Given the description of an element on the screen output the (x, y) to click on. 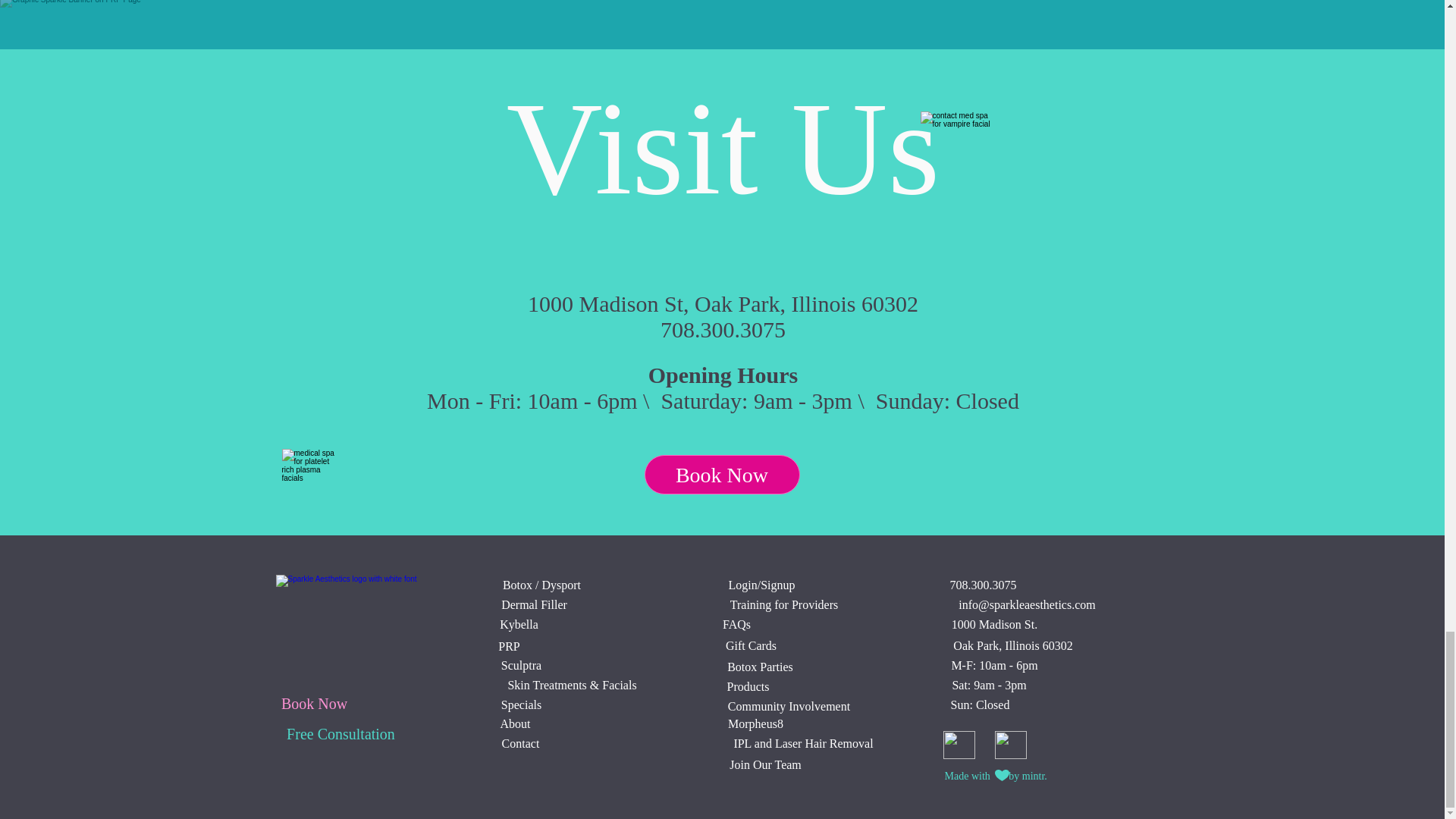
Asset a.png (955, 159)
Sculptra (521, 665)
Book Now (722, 474)
Facebook (1010, 745)
PRP (508, 646)
About (515, 724)
Specials (521, 705)
Dermal Filler (534, 604)
Facebook (959, 745)
Free Consultation (340, 733)
Contact (521, 743)
Asset 3.png (355, 616)
Book Now (314, 702)
Asset 4.png (312, 491)
Kybella (519, 624)
